Given the description of an element on the screen output the (x, y) to click on. 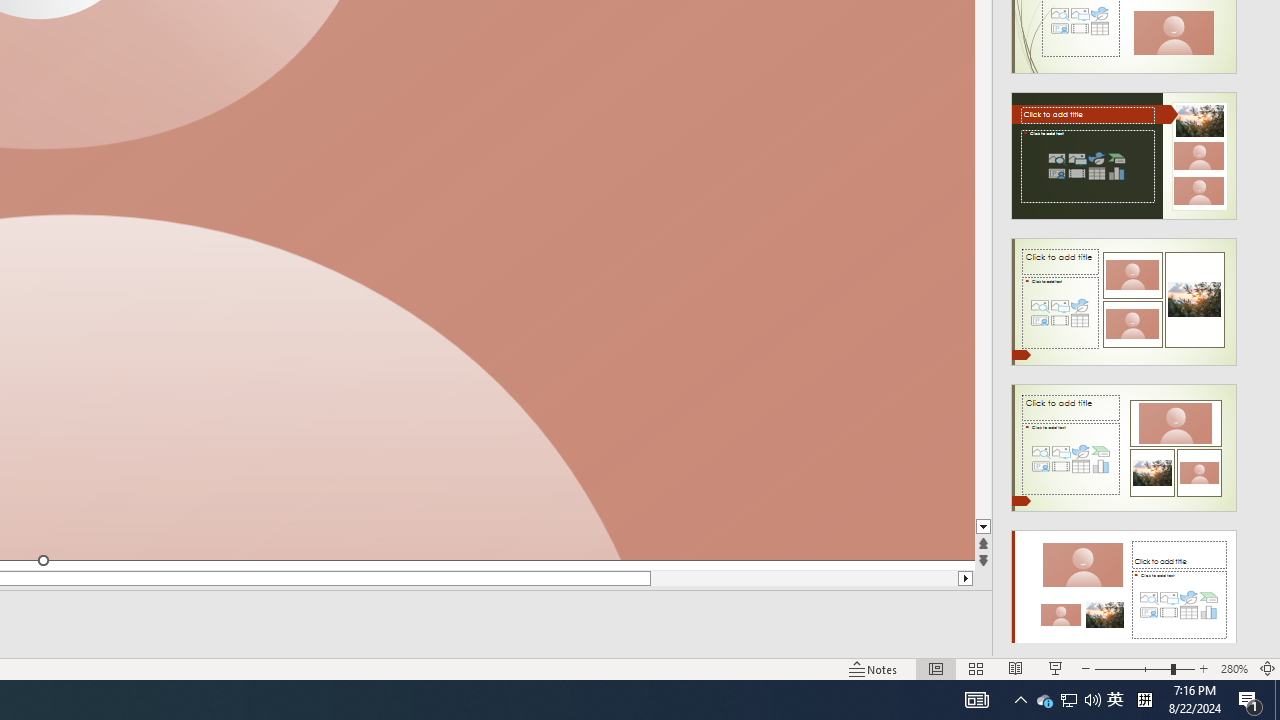
Design Idea (1124, 587)
Zoom 280% (1234, 668)
